Given the description of an element on the screen output the (x, y) to click on. 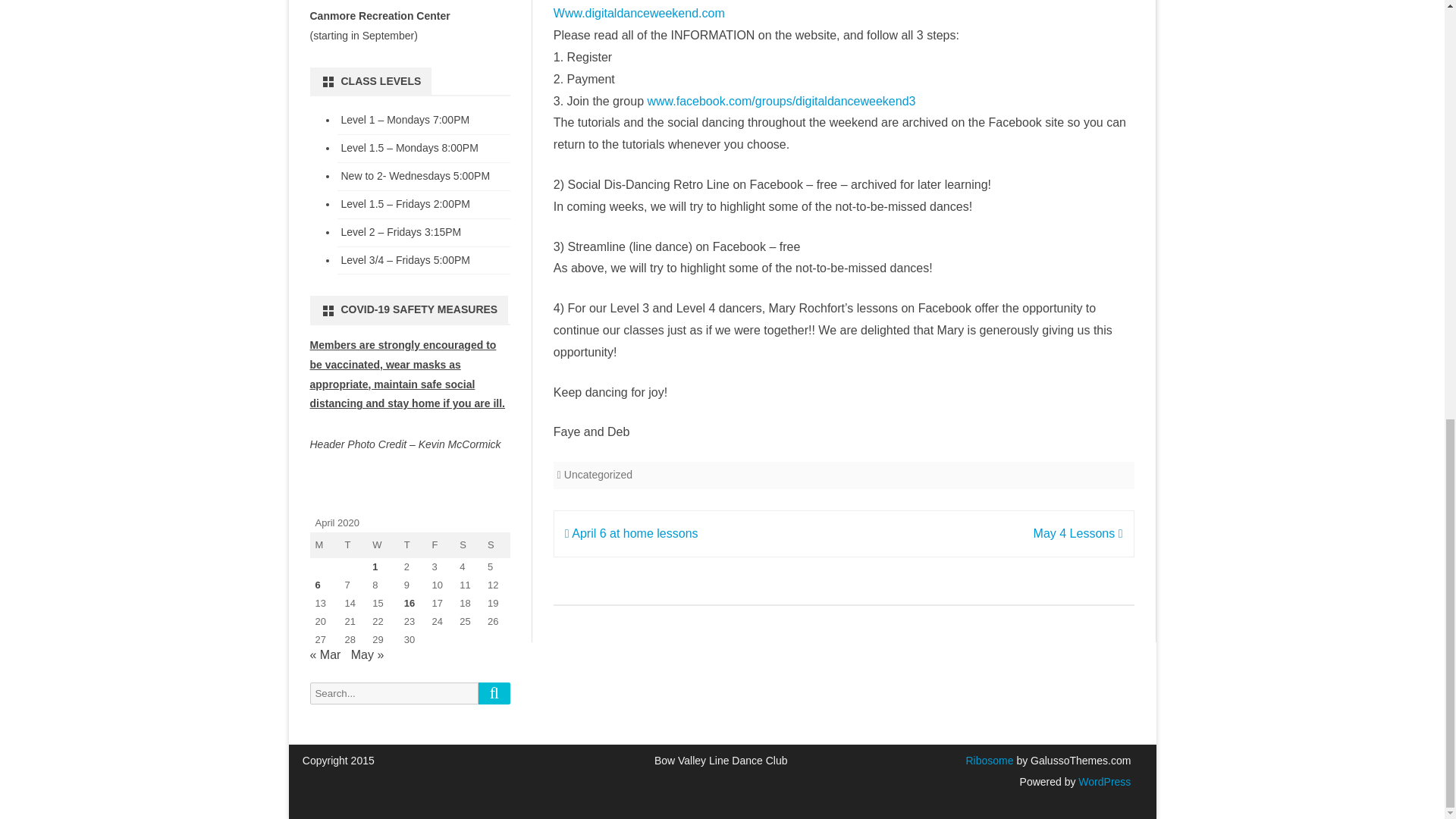
Semantic Personal Publishing Platform (1103, 781)
Sunday (496, 544)
Thursday (412, 544)
Search for: (392, 693)
Monday (323, 544)
Friday (440, 544)
Tuesday (353, 544)
Saturday (467, 544)
Wednesday (382, 544)
